Given the description of an element on the screen output the (x, y) to click on. 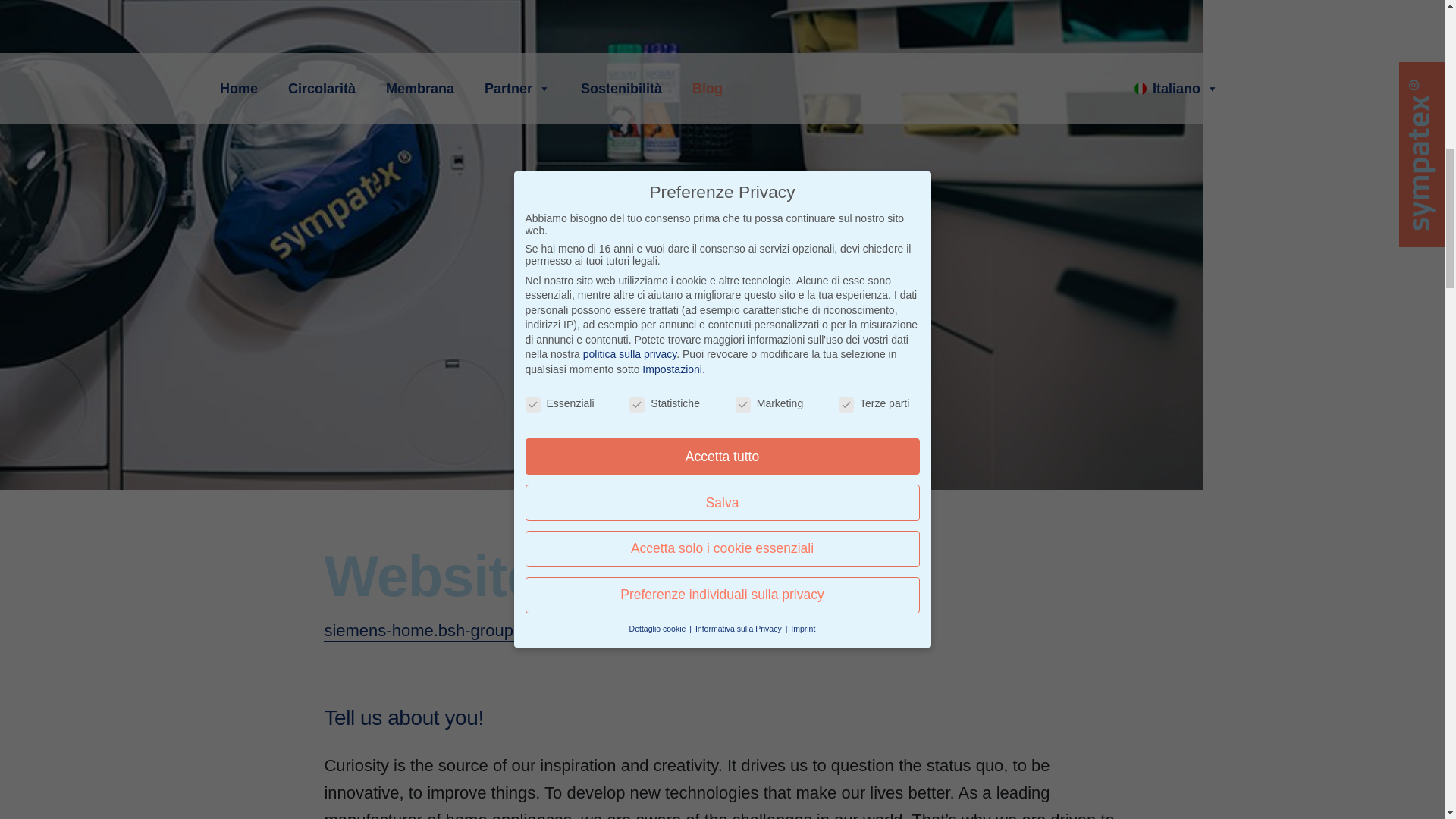
siemens-home.bsh-group.com (439, 629)
